Given the description of an element on the screen output the (x, y) to click on. 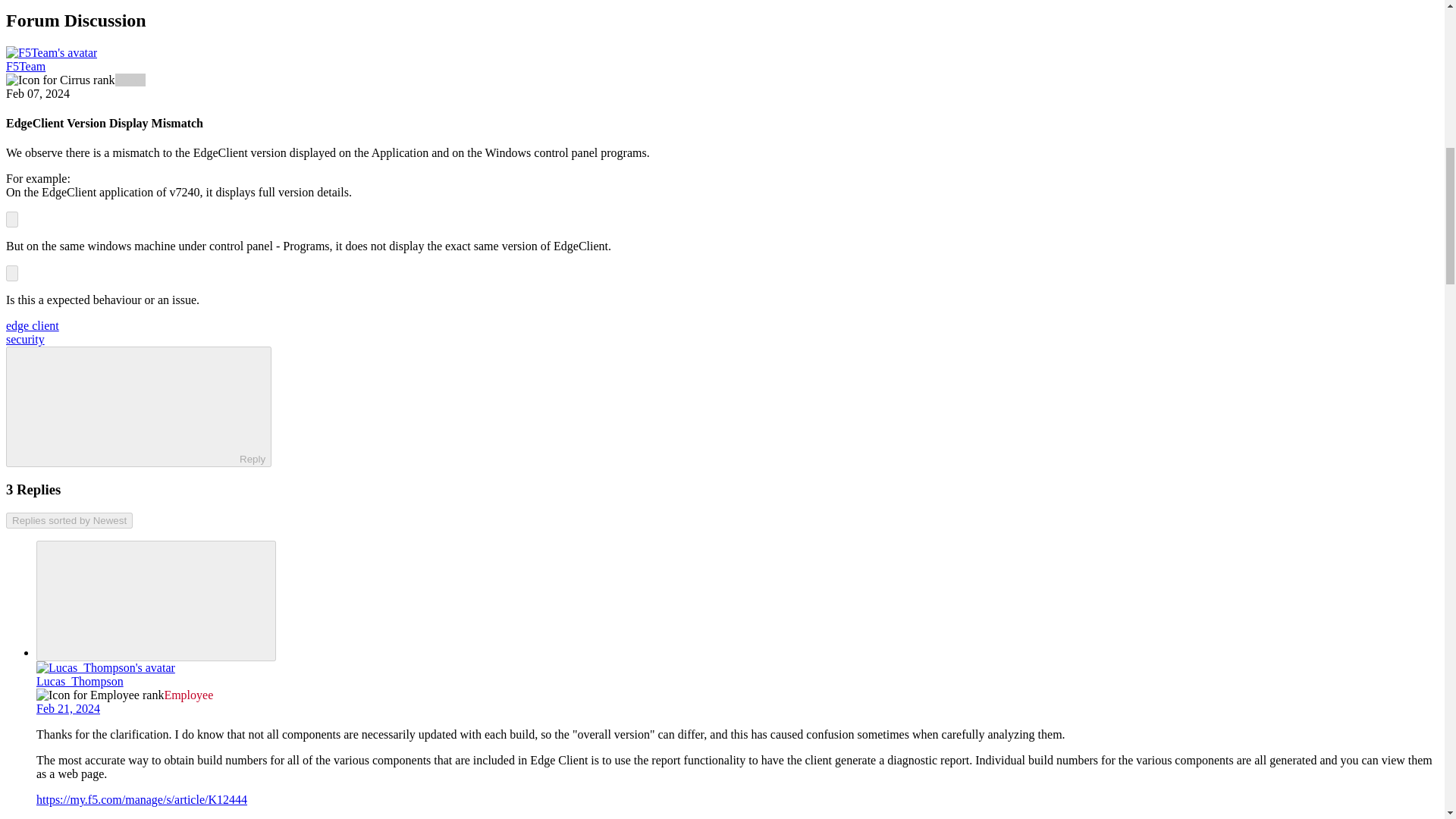
Feb 21, 2024 (68, 707)
Replies sorted by Newest (68, 520)
F5Team (25, 65)
February 21, 2024 at 4:46 PM (68, 707)
edge client (32, 325)
Reply (125, 405)
February 7, 2024 at 12:00 PM (37, 92)
security (25, 338)
ReplyReply (137, 406)
